Given the description of an element on the screen output the (x, y) to click on. 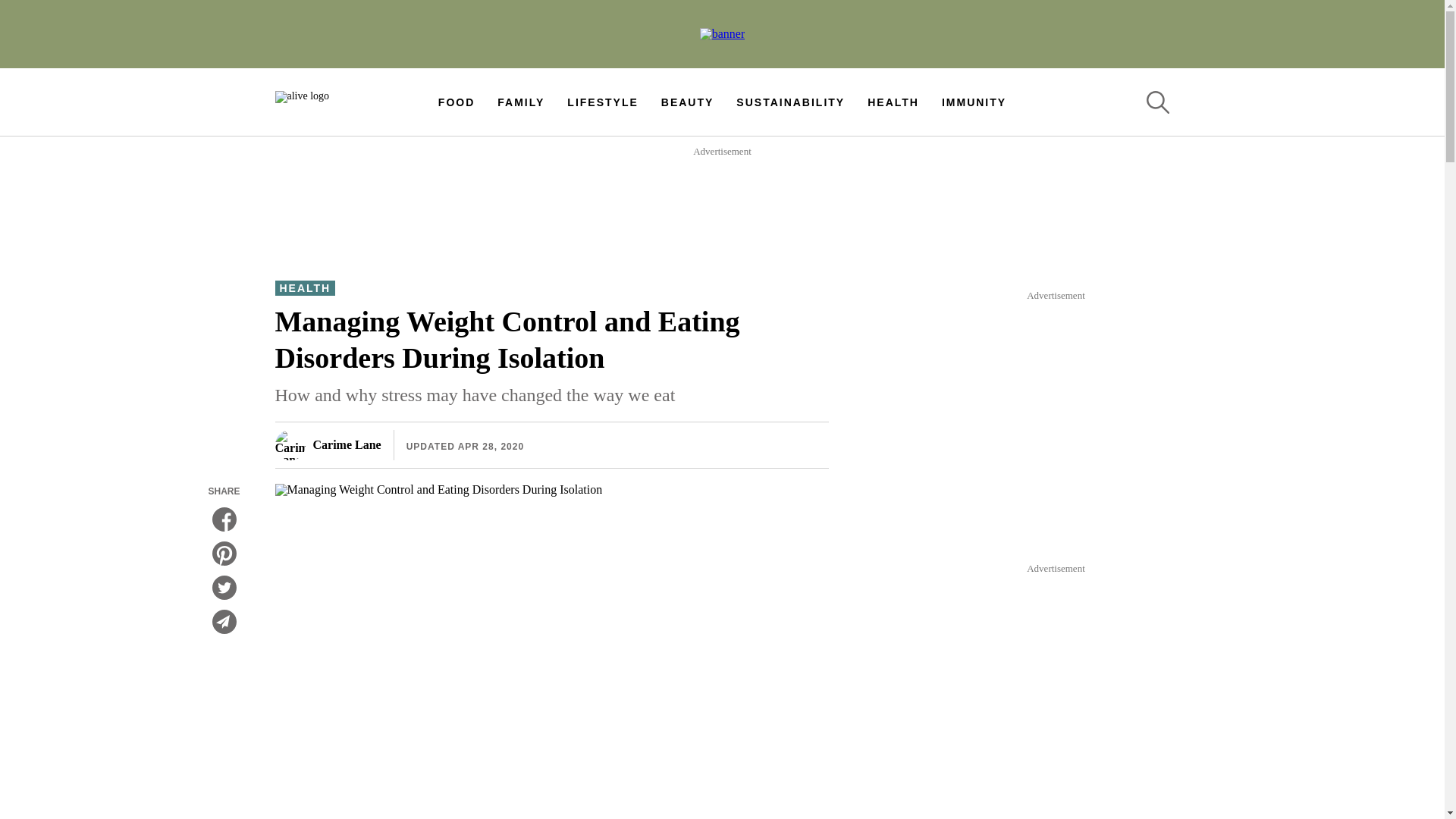
FOOD (456, 101)
Carime Lane (327, 444)
SUSTAINABILITY (790, 101)
LIFESTYLE (602, 101)
HEALTH (304, 287)
BEAUTY (687, 101)
HEALTH (892, 101)
IMMUNITY (974, 101)
FAMILY (520, 101)
